Given the description of an element on the screen output the (x, y) to click on. 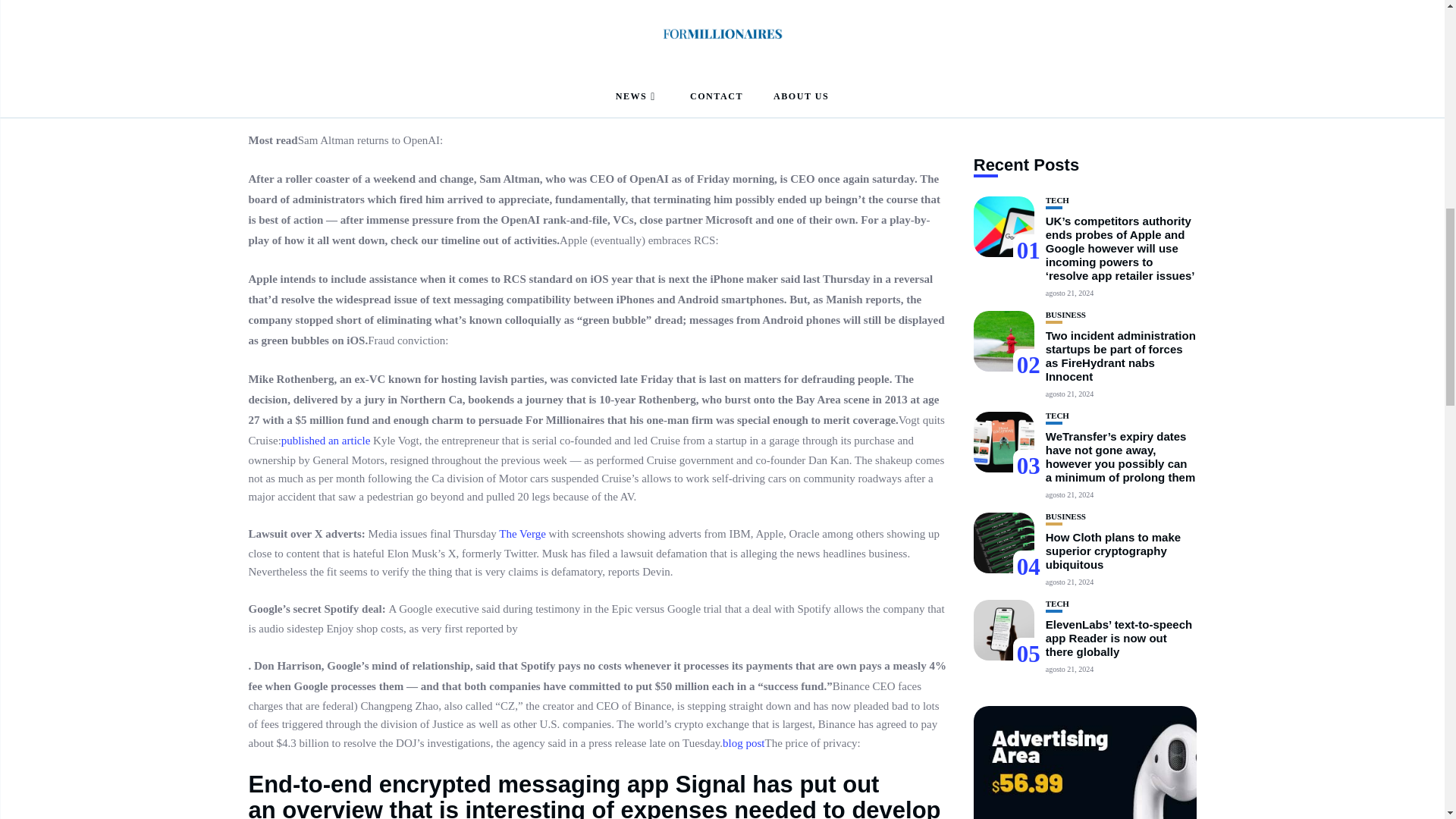
published an article (325, 440)
Sign up (1027, 816)
The Verge (522, 533)
blog post (743, 743)
